Given the description of an element on the screen output the (x, y) to click on. 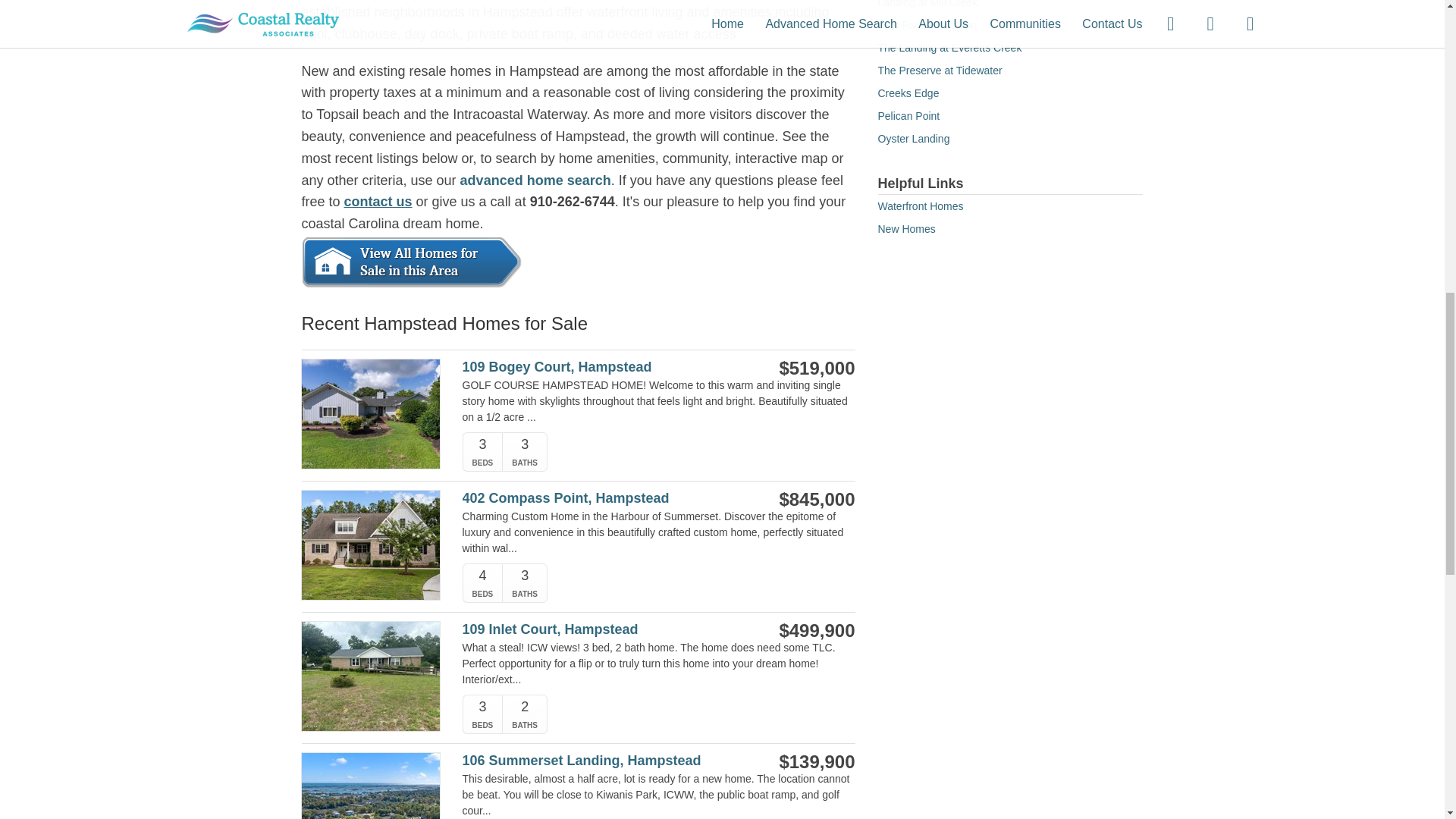
106 Summerset Landing, Hampstead (600, 760)
109 Bogey Court, Hampstead (600, 367)
109 Inlet Court, Hampstead (600, 629)
See all Landing at Mill Creek houses for sale. (927, 4)
The Preserve at Tidewater in Sneads Ferry (940, 70)
New River Plantation real estate. (926, 24)
contact us (377, 201)
Creeks Edge in Sneads Ferry (908, 92)
402 Compass Point, Hampstead (600, 498)
Click here to see homes in Hampstead (411, 261)
advanced home search (535, 180)
Search all Everetts Creek home listings now. (949, 47)
Click here to view all property listings in Pelican Point. (908, 115)
